Given the description of an element on the screen output the (x, y) to click on. 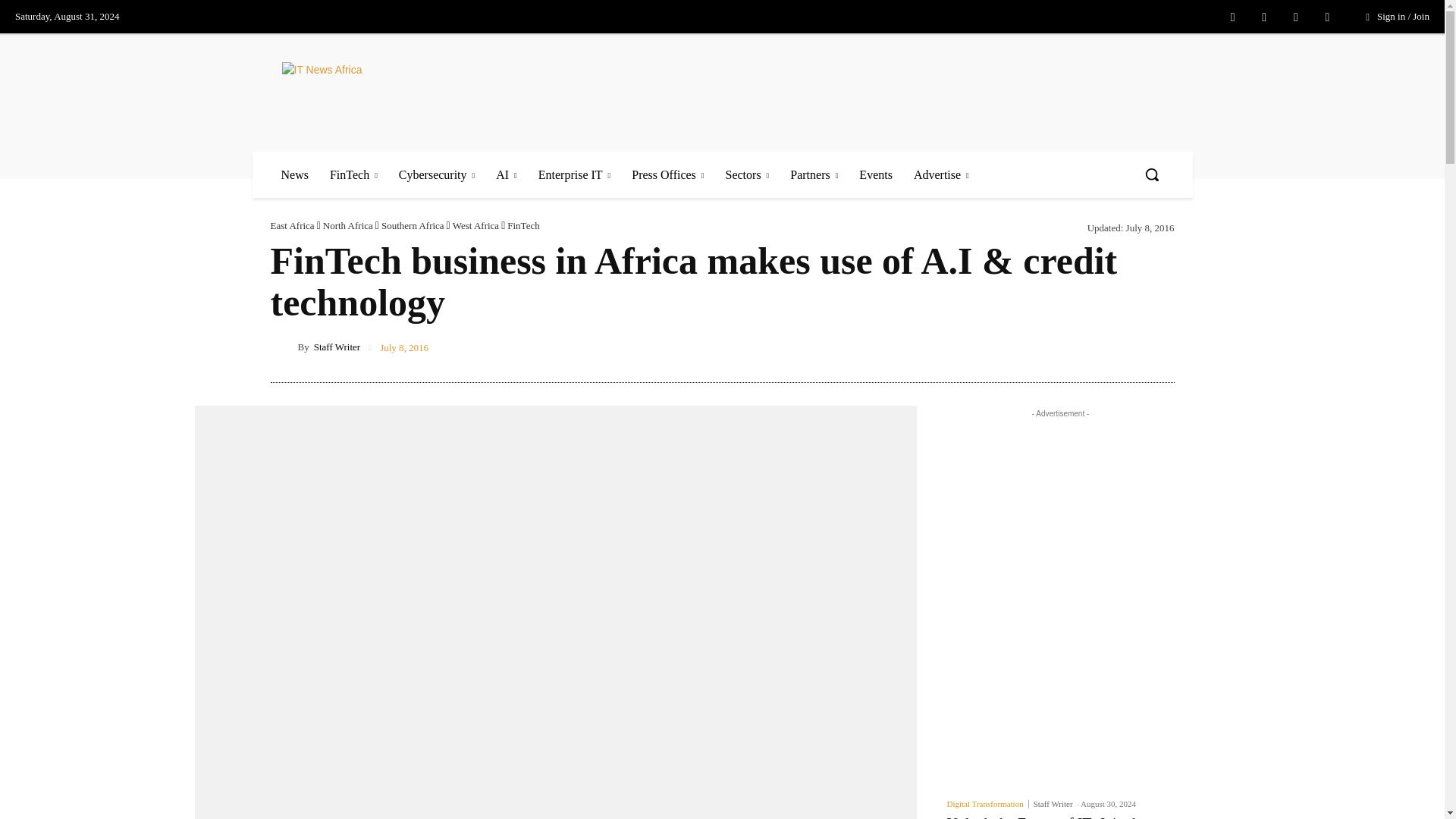
News (293, 174)
Instagram (1263, 17)
Youtube (1327, 17)
Twitter (1295, 17)
Facebook (1233, 17)
FinTech (353, 174)
IT News Africa (373, 92)
IT News Africa (392, 92)
